Given the description of an element on the screen output the (x, y) to click on. 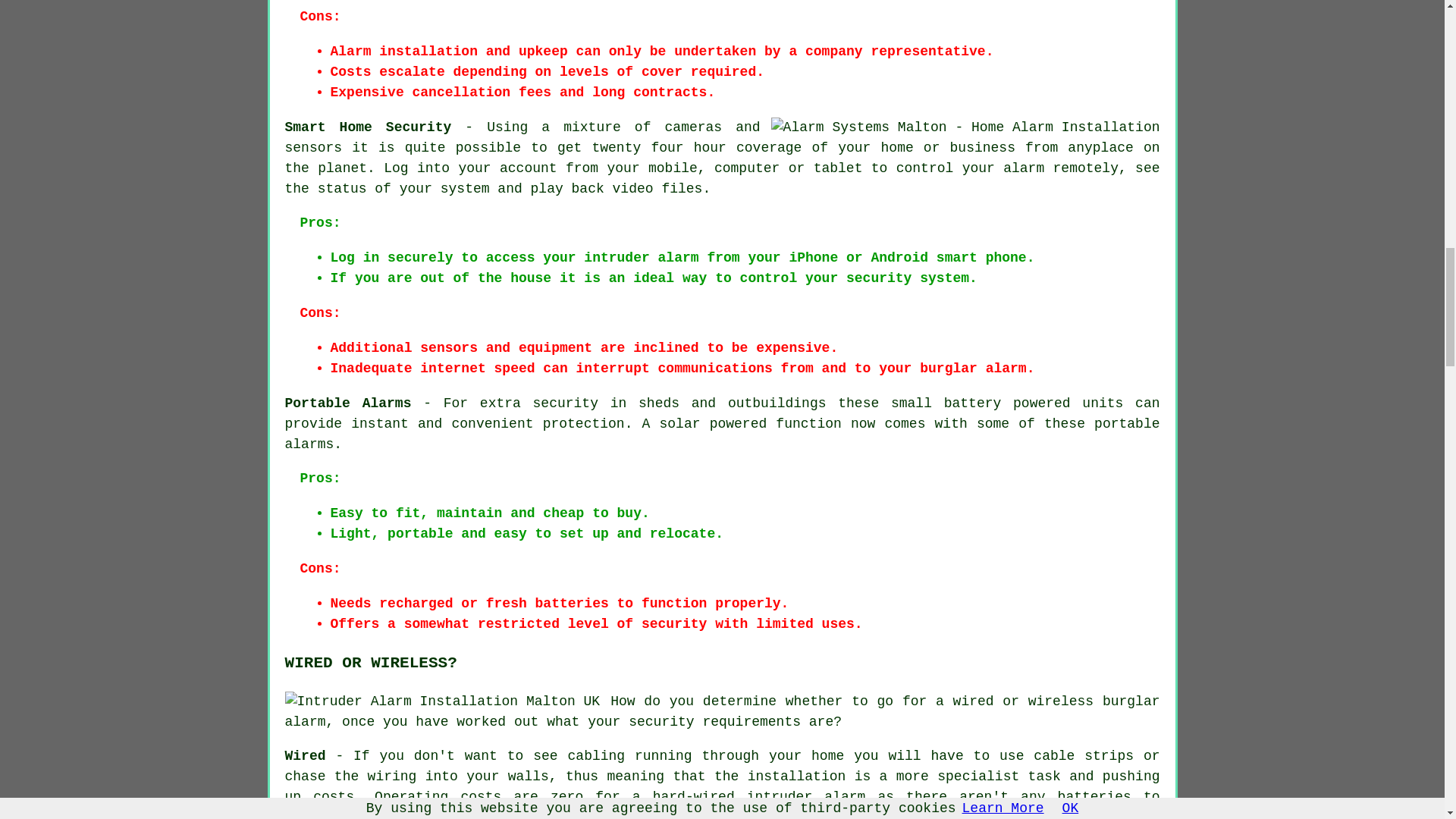
Alarm Systems Malton - Home Alarm Installation (965, 127)
Intruder Alarm Installation Malton UK (442, 701)
